Given the description of an element on the screen output the (x, y) to click on. 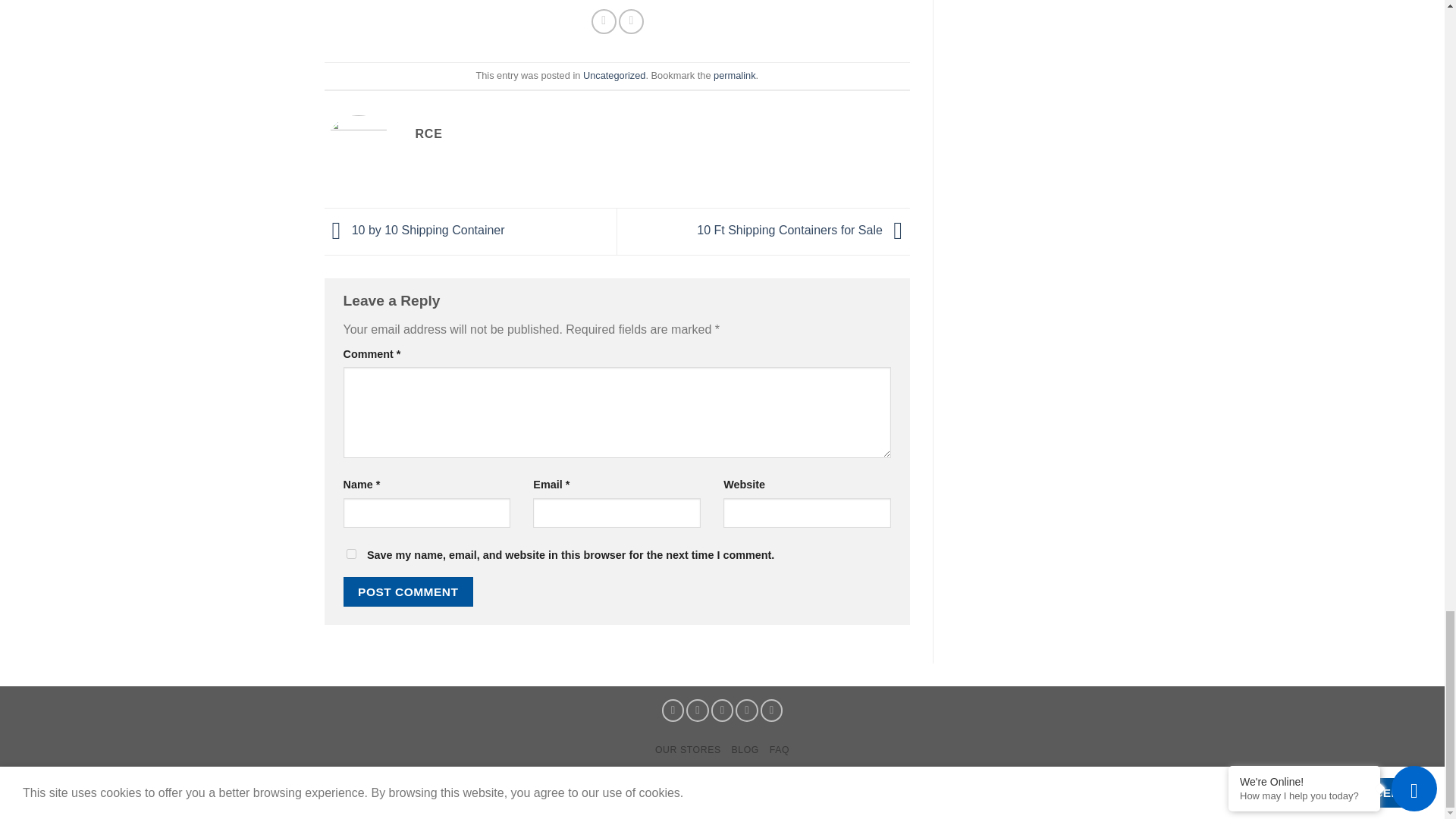
Email to a Friend (630, 21)
Post Comment (407, 591)
permalink (734, 75)
Post Comment (407, 591)
yes (350, 553)
10 Ft Shipping Containers for Sale (803, 230)
10 by 10 Shipping Container (414, 230)
Share on Facebook (603, 21)
Uncategorized (614, 75)
